Given the description of an element on the screen output the (x, y) to click on. 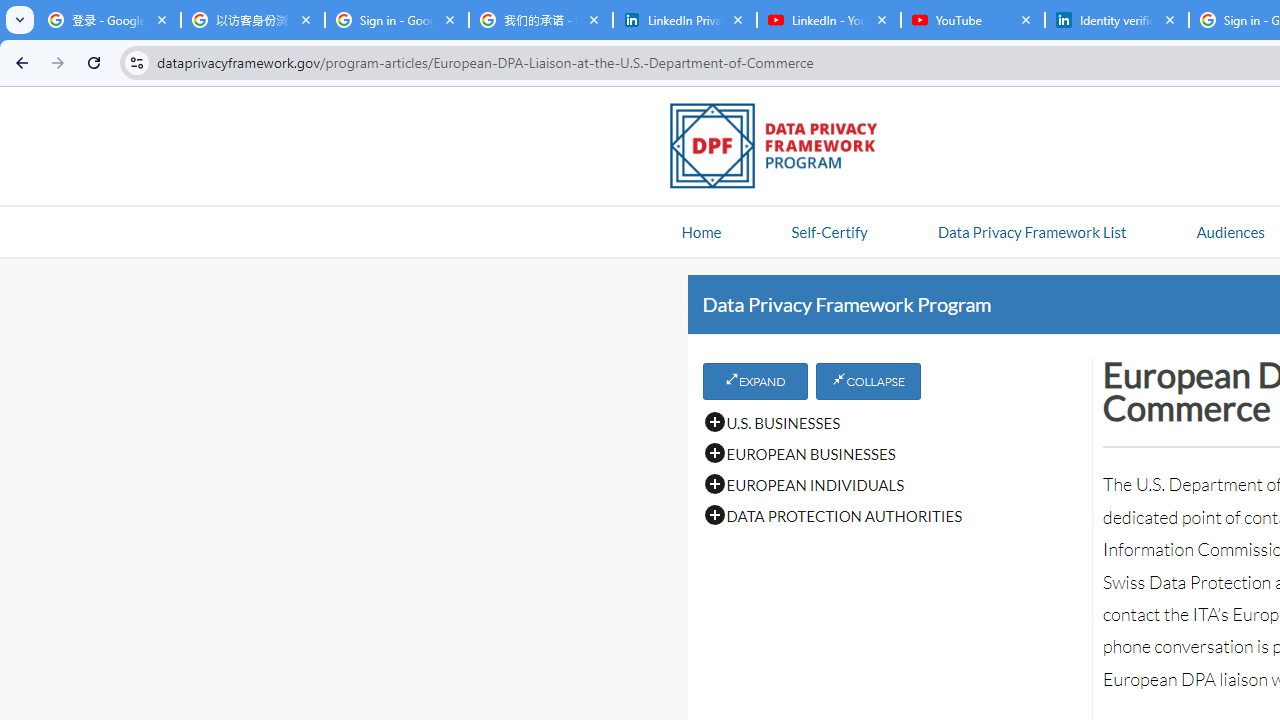
COLLAPSE (868, 381)
EXPAND (754, 381)
LinkedIn - YouTube (828, 20)
Data Privacy Framework List (1031, 231)
Sign in - Google Accounts (396, 20)
YouTube (972, 20)
